Given the description of an element on the screen output the (x, y) to click on. 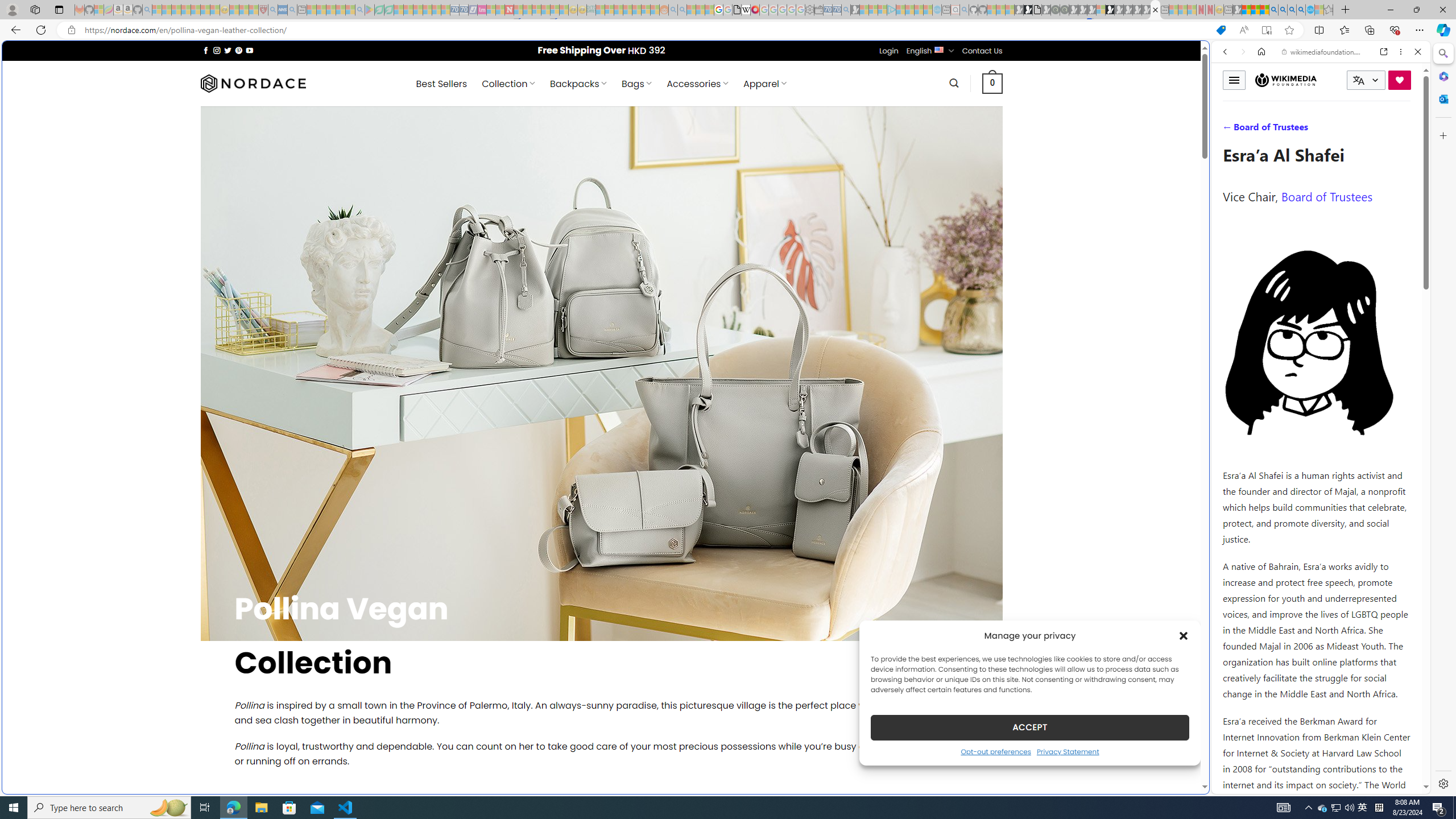
Opt-out preferences (995, 750)
Frequently visited (965, 151)
Follow on Twitter (227, 49)
